Given the description of an element on the screen output the (x, y) to click on. 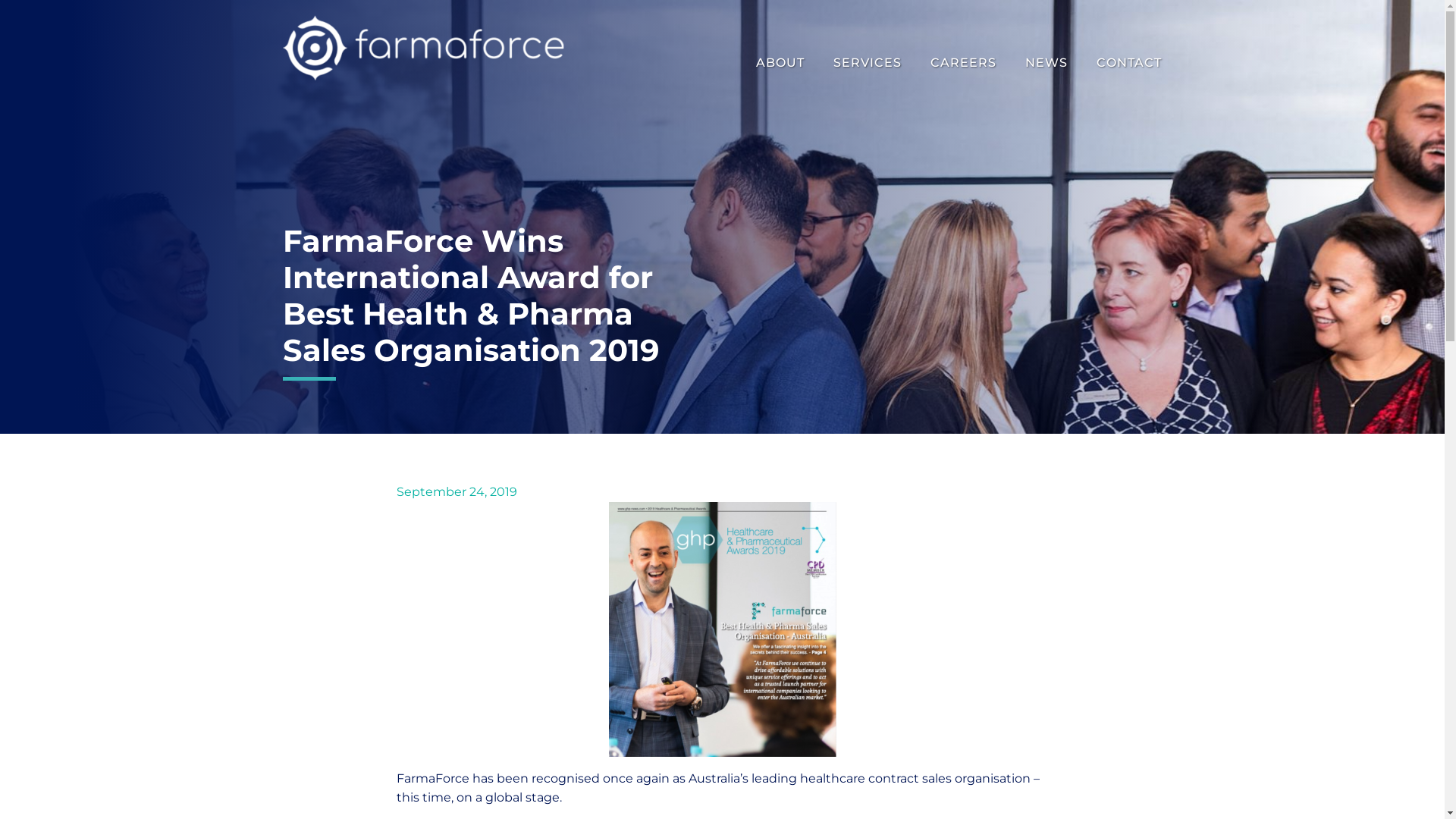
September 24, 2019 Element type: text (455, 491)
NEWS Element type: text (1046, 62)
CONTACT Element type: text (1126, 62)
CAREERS Element type: text (963, 62)
SERVICES Element type: text (867, 62)
ABOUT Element type: text (782, 62)
